Given the description of an element on the screen output the (x, y) to click on. 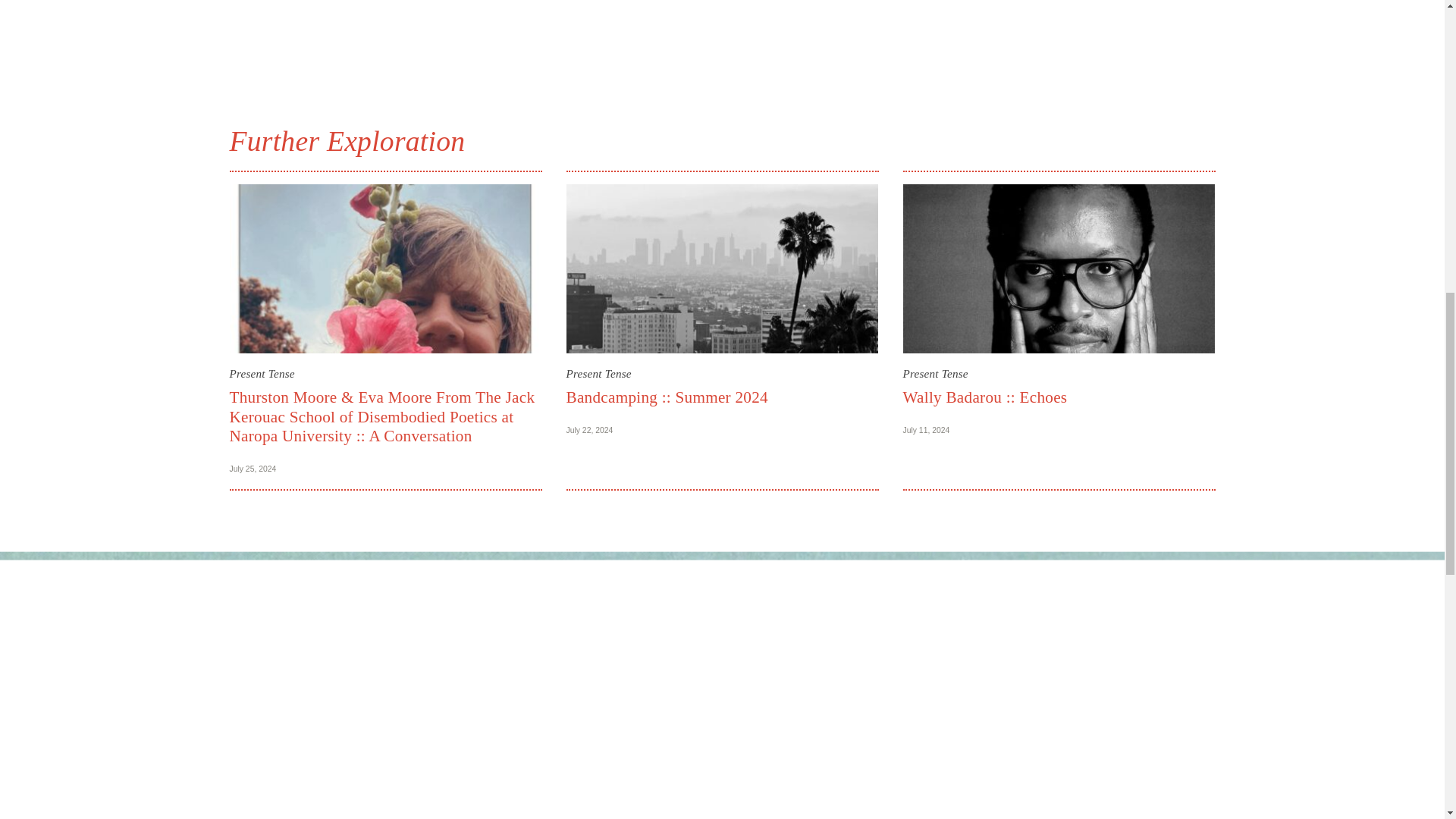
Wally Badarou :: Echoes (984, 397)
Bandcamping :: Summer 2024 (666, 397)
